Given the description of an element on the screen output the (x, y) to click on. 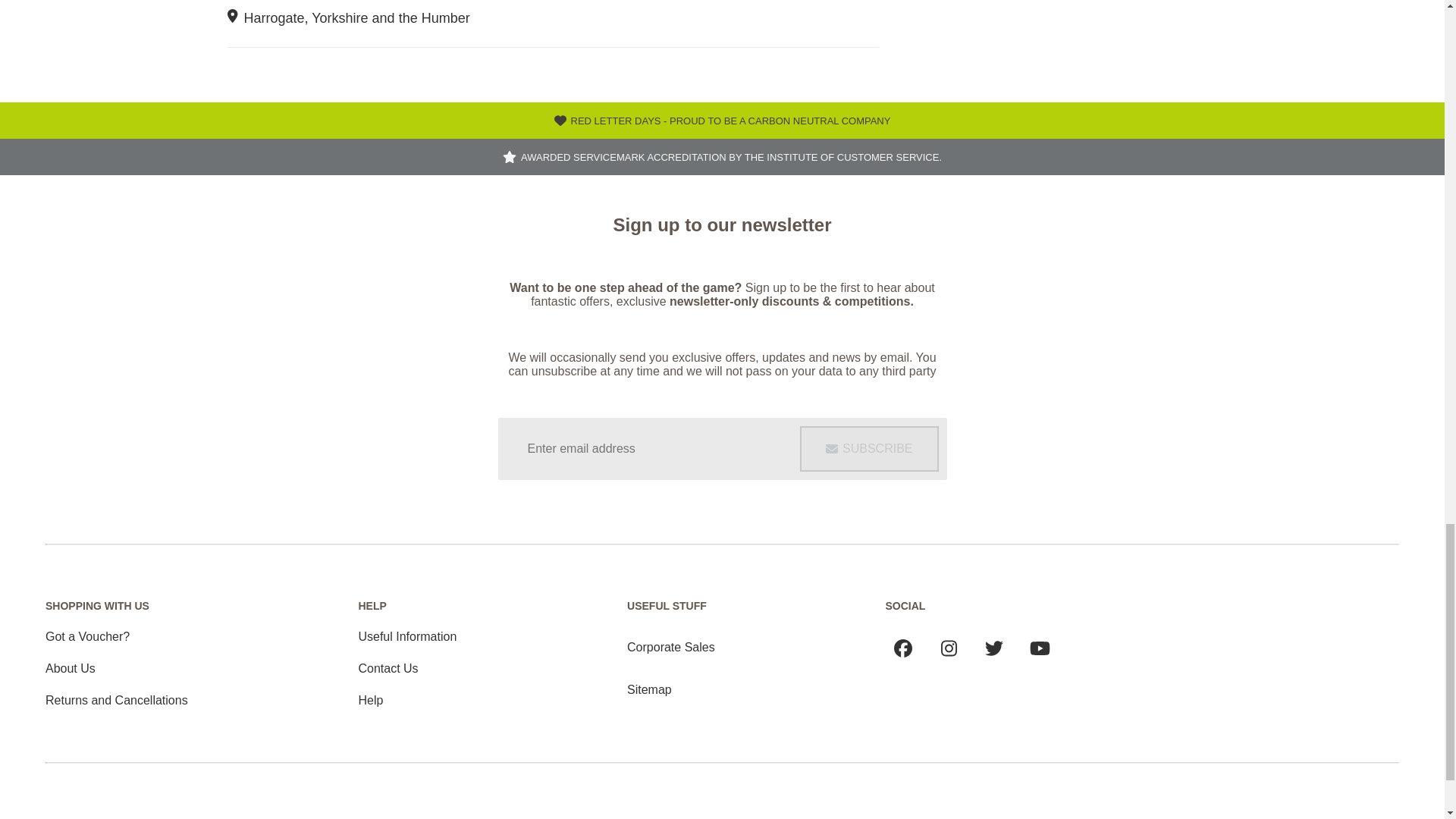
instagram (948, 647)
youtube (1040, 647)
facebook (903, 647)
twitter (993, 647)
